Given the description of an element on the screen output the (x, y) to click on. 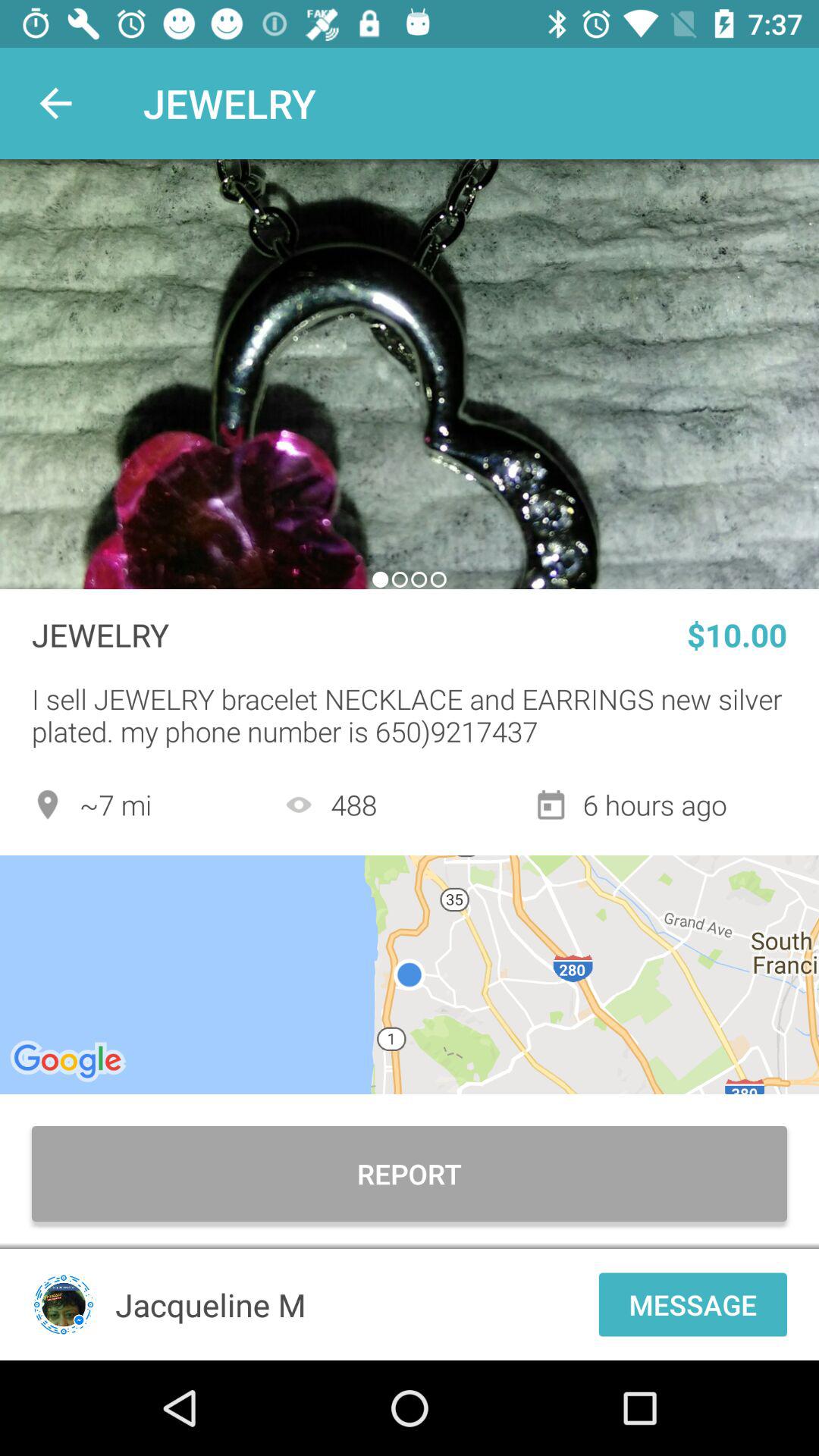
turn on item to the left of jewelry app (55, 103)
